Given the description of an element on the screen output the (x, y) to click on. 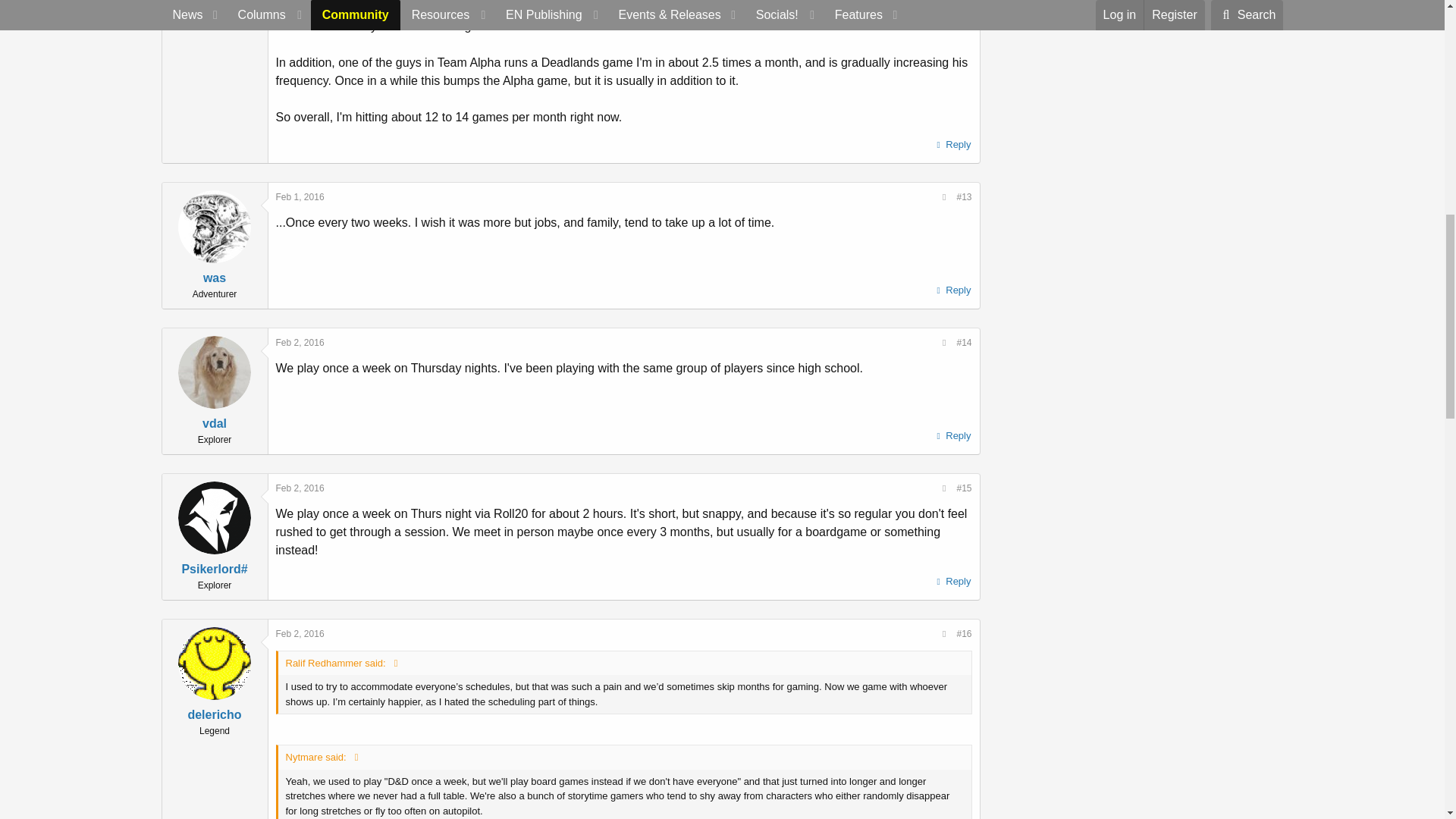
Reply, quoting this message (952, 290)
Reply, quoting this message (952, 144)
Reply, quoting this message (952, 435)
Feb 1, 2016 at 9:25 PM (300, 196)
Feb 2, 2016 at 3:55 AM (300, 488)
Reply, quoting this message (952, 581)
Feb 2, 2016 at 2:11 AM (300, 342)
Feb 2, 2016 at 9:39 AM (300, 633)
